Given the description of an element on the screen output the (x, y) to click on. 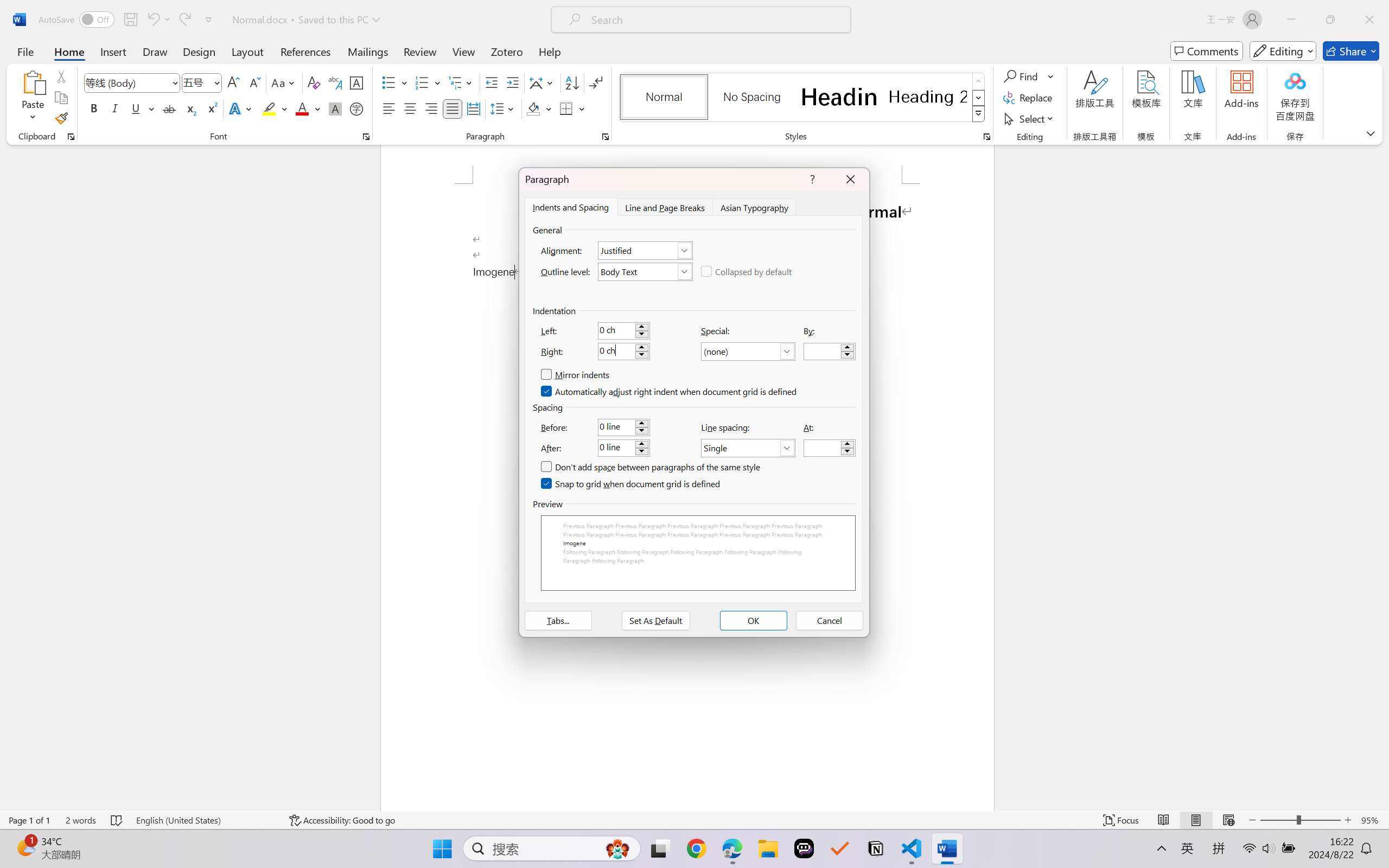
Cut (60, 75)
Page Number Page 1 of 1 (29, 819)
Row up (978, 81)
Poe (804, 848)
Format Painter (60, 118)
Increase Indent (512, 82)
Collapsed by default (747, 271)
